Given the description of an element on the screen output the (x, y) to click on. 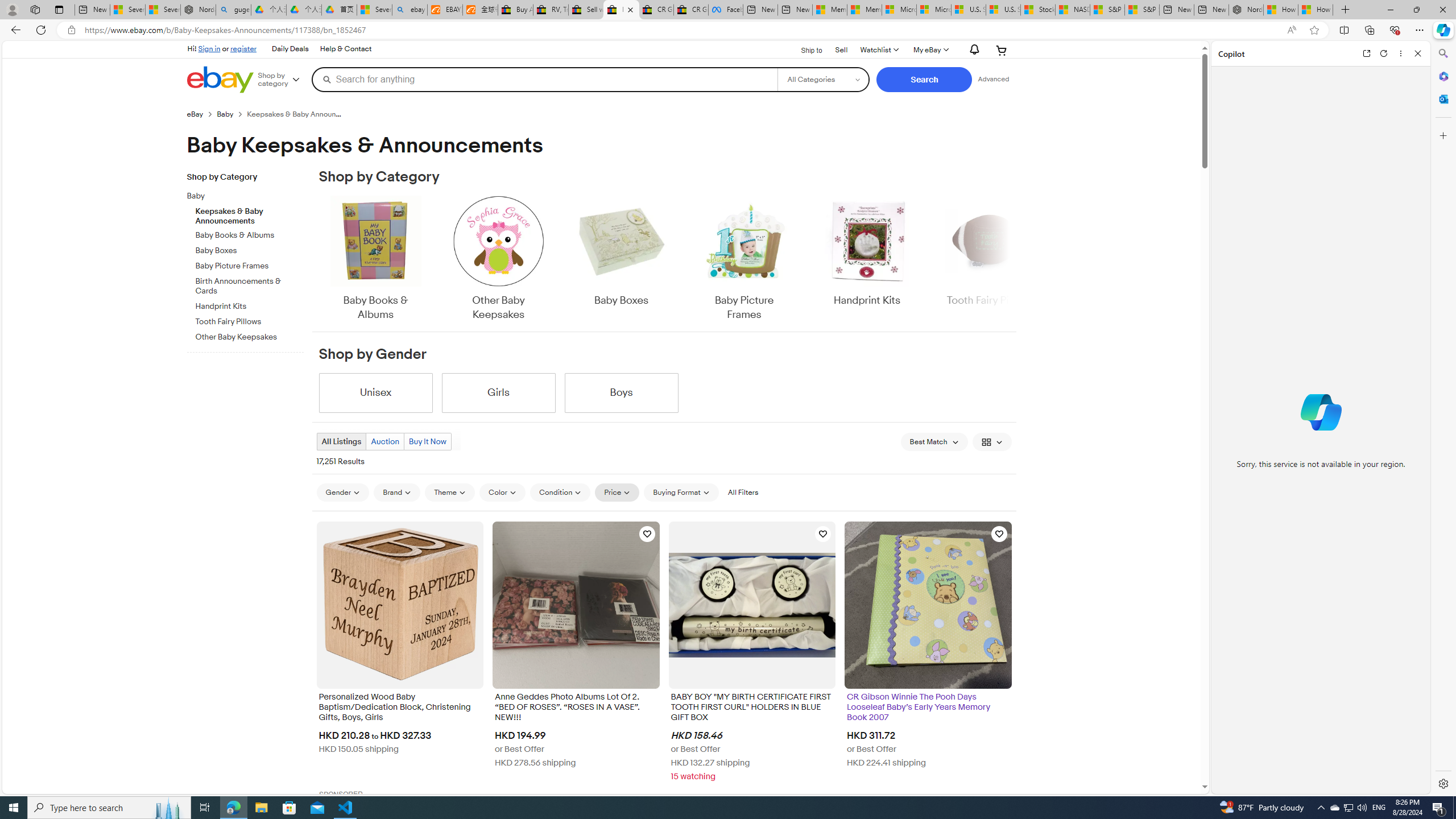
Daily Deals (290, 49)
Ship to (804, 50)
Select a category for search (823, 78)
ebay - Search (409, 9)
Ship to (804, 49)
Buying Format (681, 492)
Condition (560, 492)
Price (617, 492)
Other Baby Keepsakes (498, 258)
Buying Format (681, 492)
WatchlistExpand Watch List (878, 49)
Tooth Fairy Pillows (249, 319)
